Given the description of an element on the screen output the (x, y) to click on. 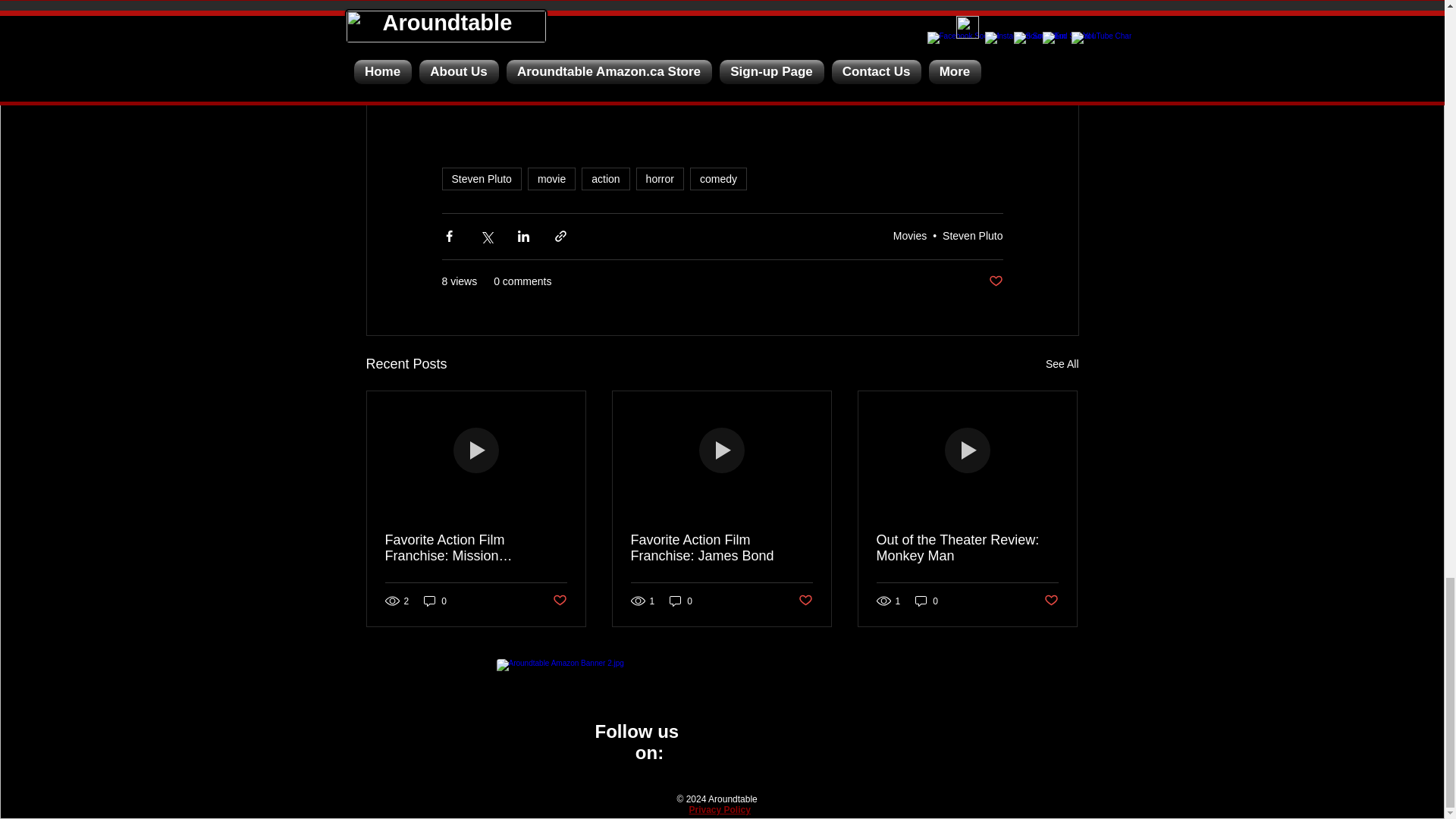
Steven Pluto (481, 178)
action (604, 178)
comedy (718, 178)
movie (551, 178)
horror (660, 178)
